Given the description of an element on the screen output the (x, y) to click on. 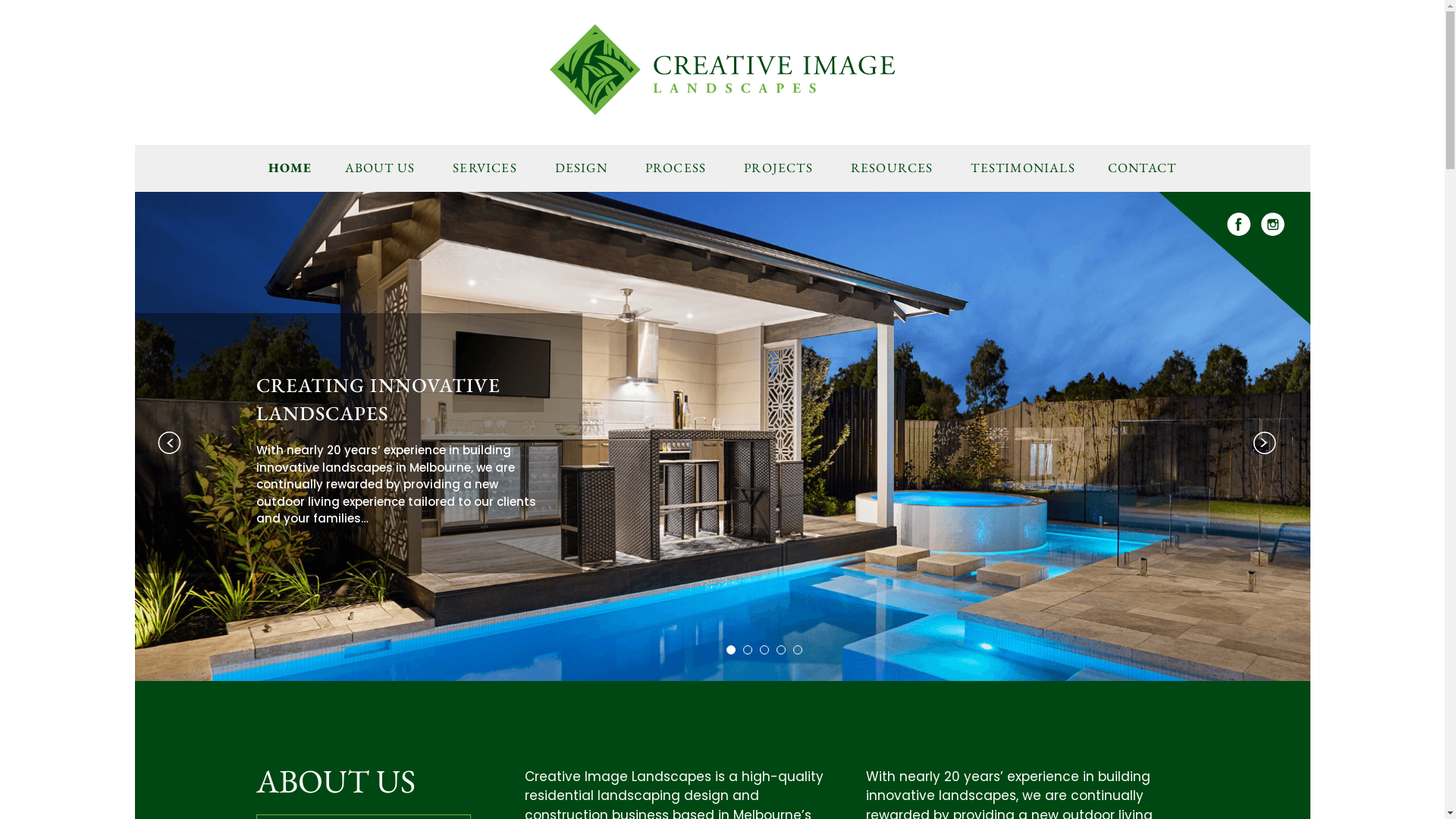
RESOURCES Element type: text (891, 167)
PROJECTS Element type: text (777, 167)
HOME Element type: text (290, 167)
ABOUT US Element type: text (380, 167)
Next Element type: text (1263, 442)
CONTACT Element type: text (1141, 167)
PROCESS Element type: text (675, 167)
DESIGN Element type: text (581, 167)
SERVICES Element type: text (484, 167)
Previous Element type: text (168, 442)
TESTIMONIALS Element type: text (1022, 167)
